Given the description of an element on the screen output the (x, y) to click on. 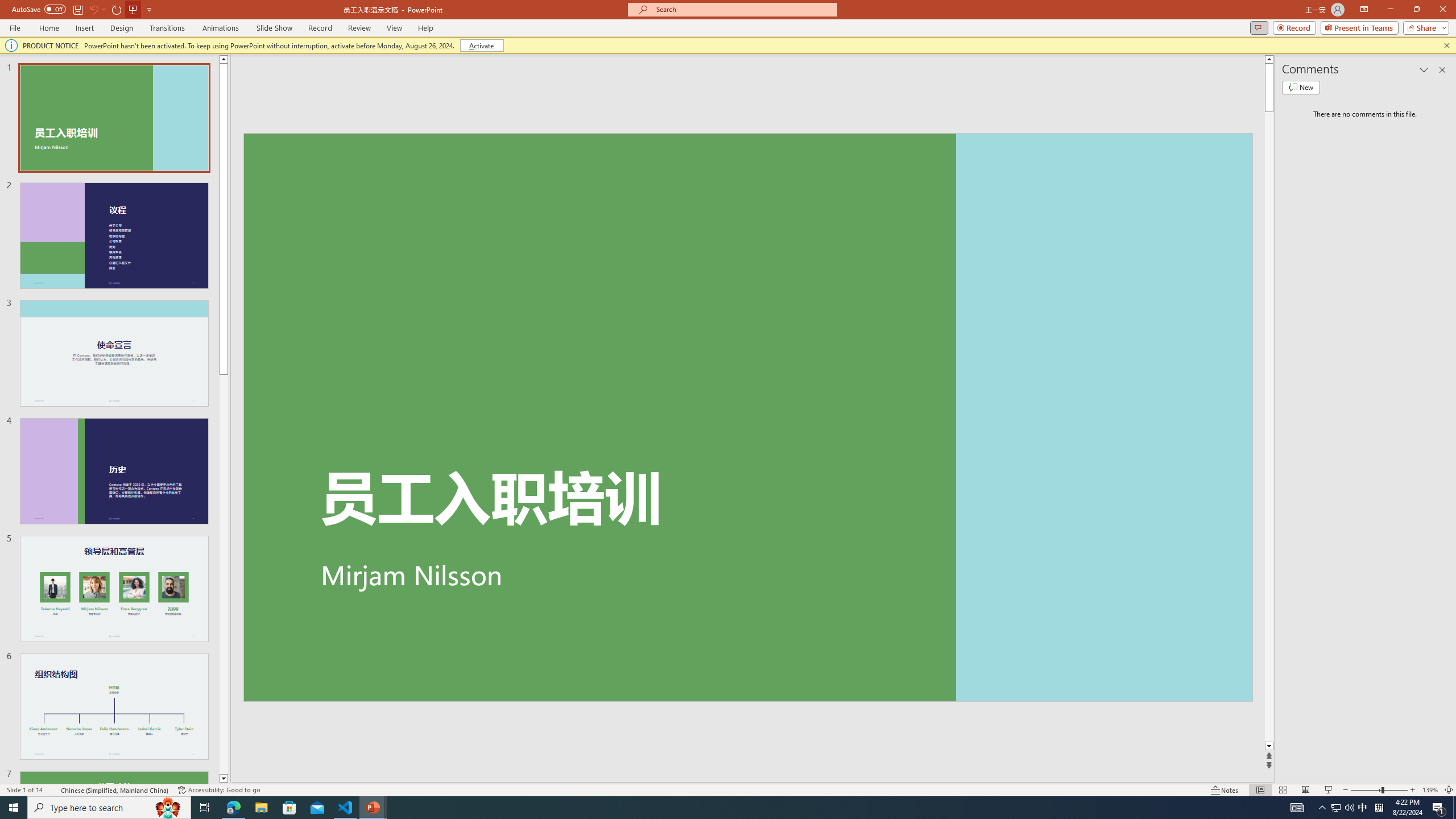
Spell Check  (52, 790)
New comment (1300, 87)
